Given the description of an element on the screen output the (x, y) to click on. 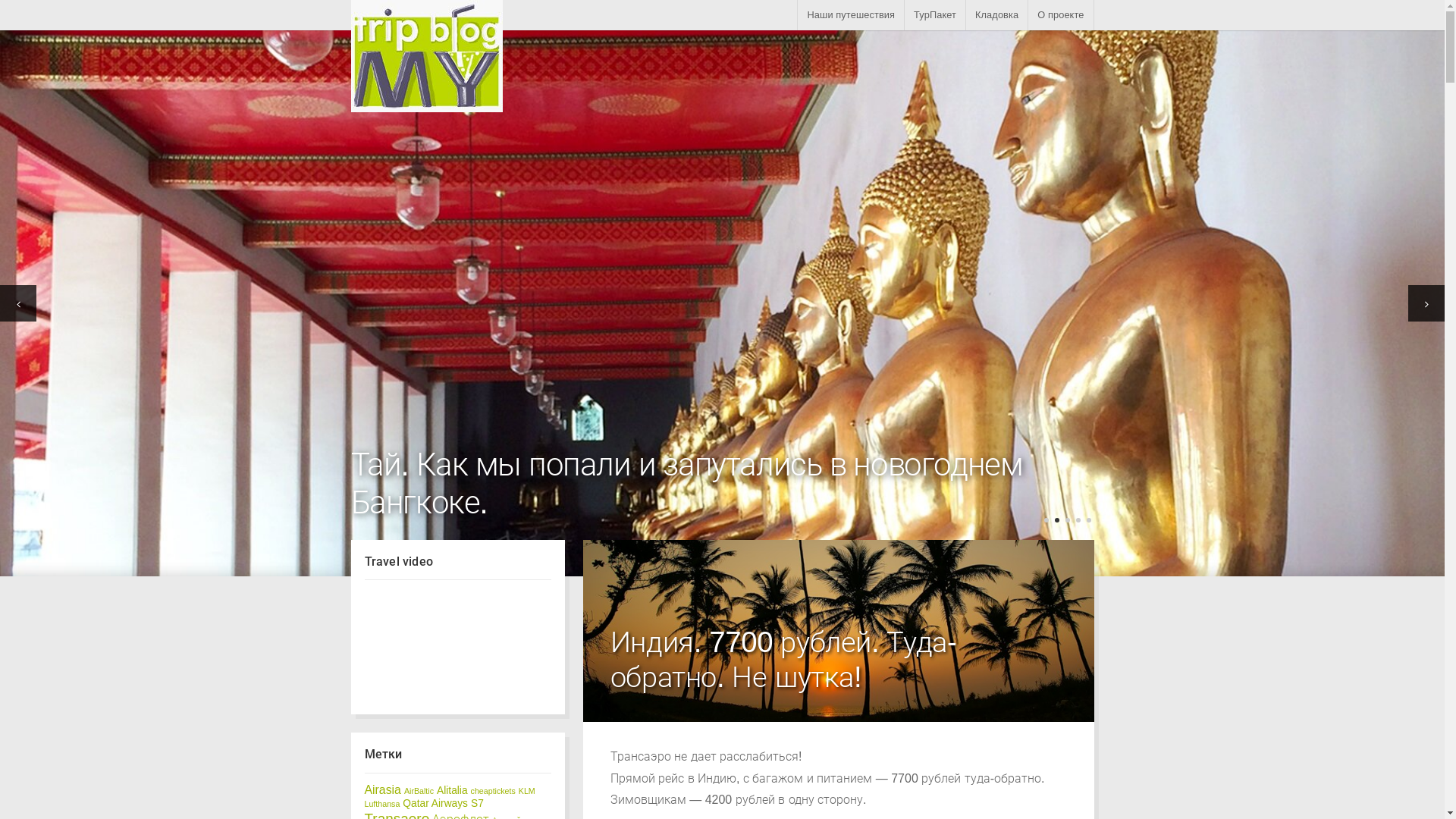
2 Element type: text (1056, 519)
3 Element type: text (1066, 519)
KLM Element type: text (526, 790)
Airasia Element type: text (382, 789)
1 Element type: text (1045, 519)
5 Element type: text (1087, 519)
S7 Element type: text (476, 803)
Lufthansa Element type: text (381, 803)
AirBaltic Element type: text (418, 790)
Alitalia Element type: text (451, 790)
cheaptickets Element type: text (492, 790)
Qatar Airways Element type: text (434, 803)
4 Element type: text (1077, 519)
